Given the description of an element on the screen output the (x, y) to click on. 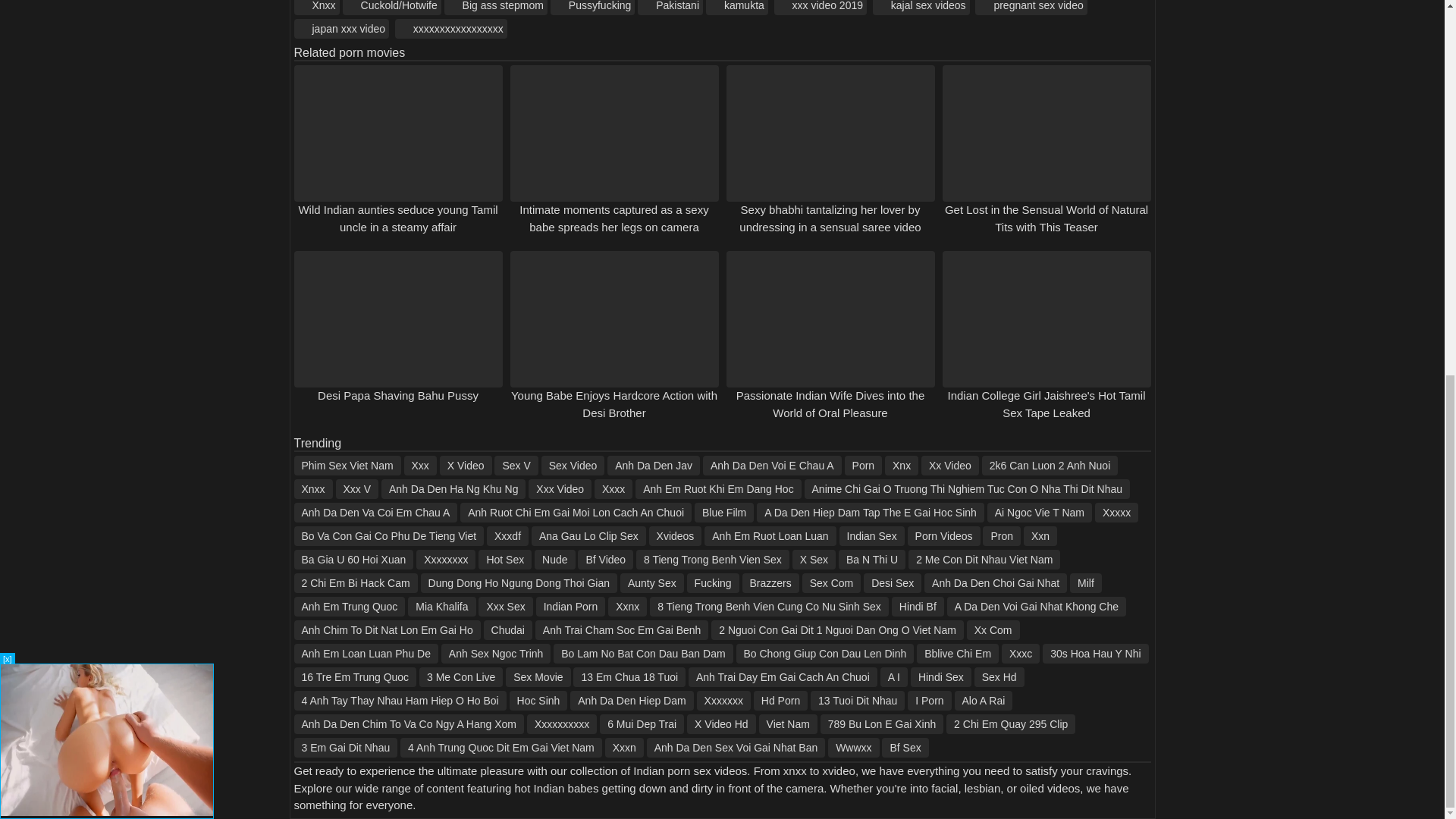
xxxxxxxxxxxxxxxxx (450, 28)
kajal sex videos (920, 7)
Pussyfucking (592, 7)
Big ass stepmom (495, 7)
Pakistani (670, 7)
Xnxx (316, 7)
kamukta (737, 7)
kamukta (737, 7)
japan xxx video (342, 28)
pregnant sex video (1030, 7)
Pussyfucking (592, 7)
